Given the description of an element on the screen output the (x, y) to click on. 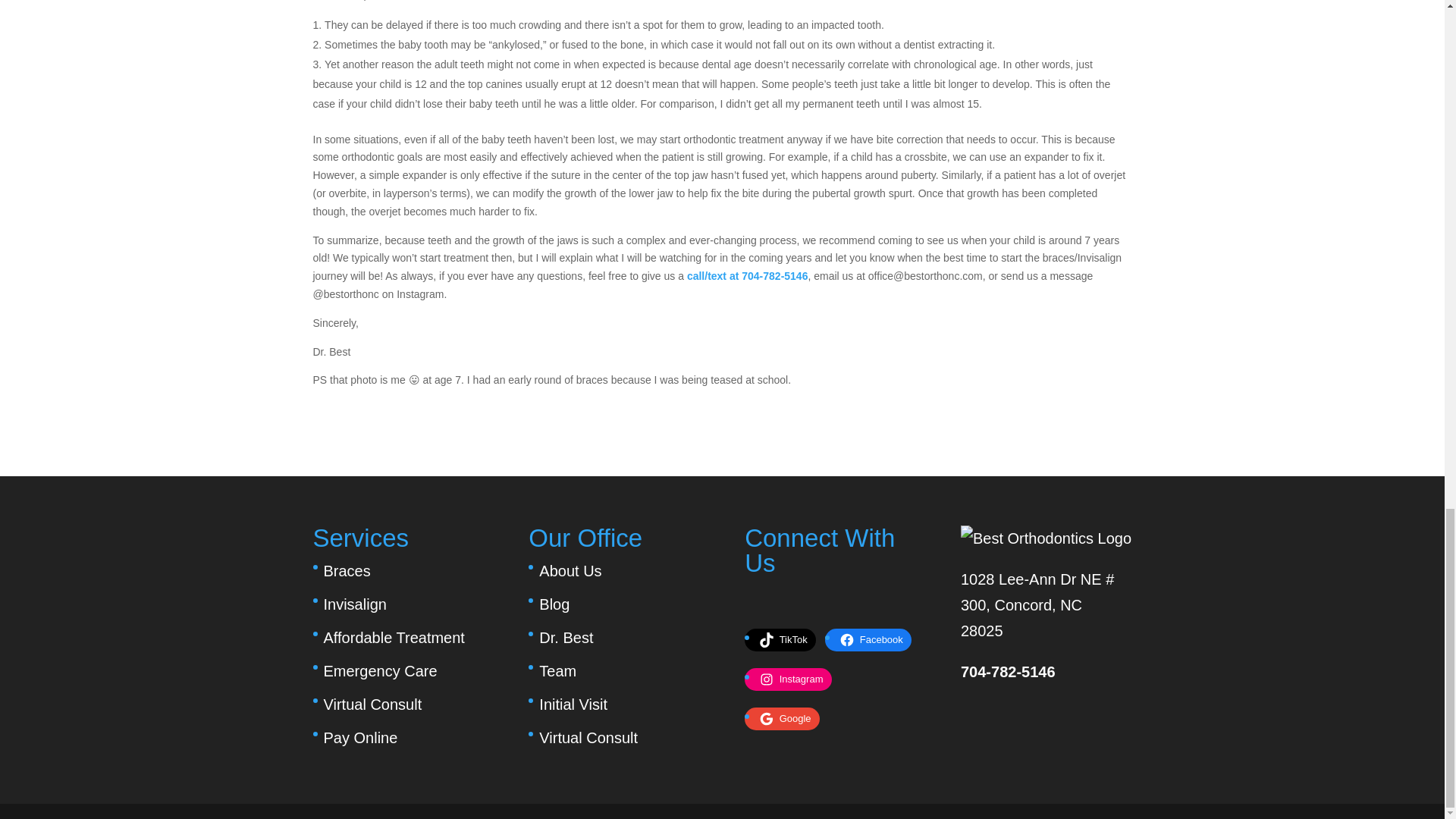
Dr. Best (565, 637)
About Us (569, 570)
Blog (553, 604)
Virtual Consult (587, 737)
TikTok (785, 639)
Initial Visit (572, 704)
Invisalign (354, 604)
Affordable Treatment (393, 637)
Pay Online (360, 737)
Team (557, 670)
Virtual Consult (372, 704)
Braces (346, 570)
Emergency Care (379, 670)
